Given the description of an element on the screen output the (x, y) to click on. 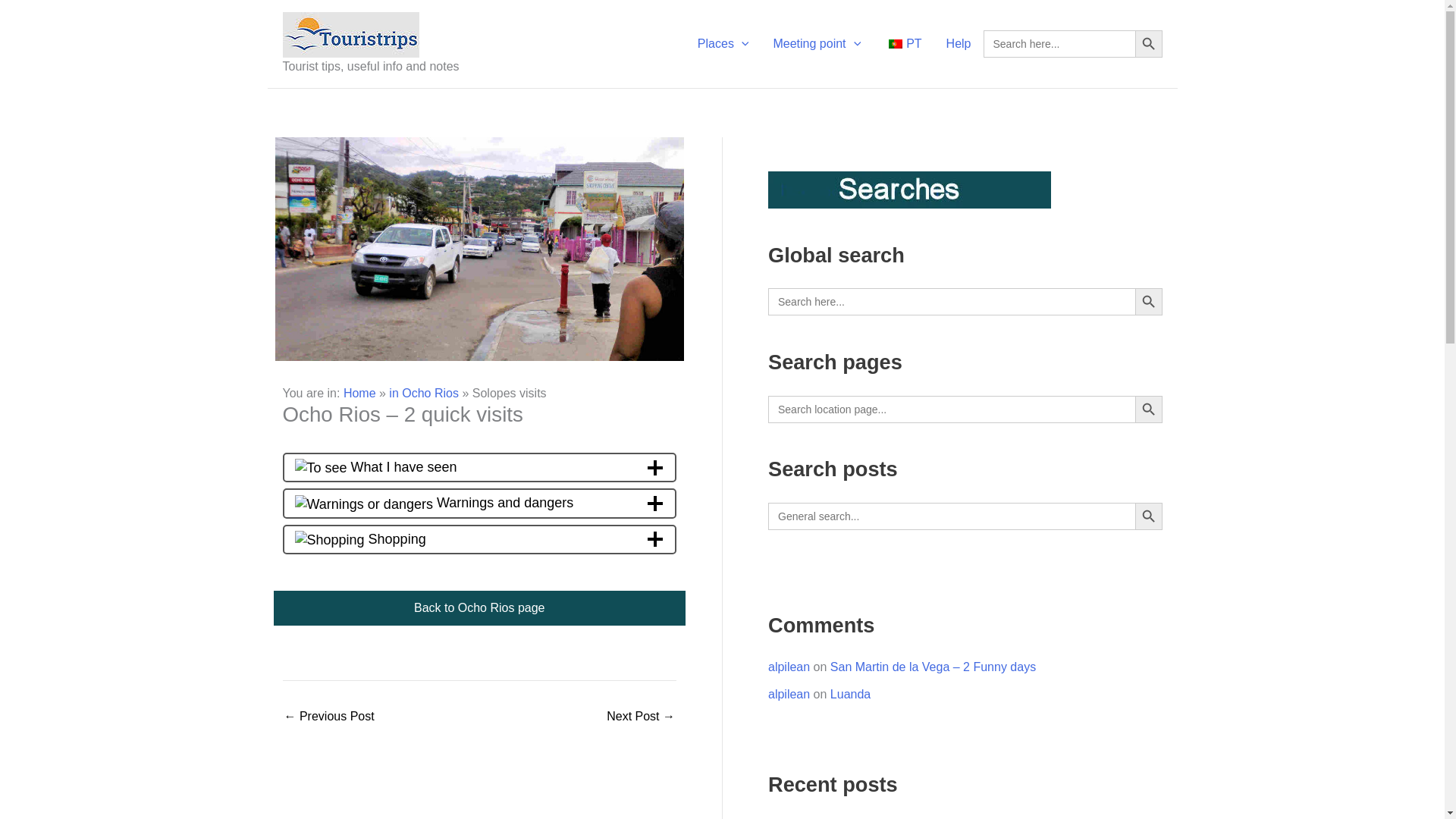
Home (359, 392)
Ocho Rios - 2 quick visits 17 (329, 539)
Search Button (1147, 43)
Ocho Rios - 2 quick visits 11 (363, 504)
Ocho Rios - 2 quick visits 3 (320, 467)
Meeting point (816, 43)
in Ocho Rios (423, 392)
Ocho Rios - 2 quick visits 1 (479, 249)
PT (902, 43)
What I have seen (479, 467)
Places (723, 43)
